Given the description of an element on the screen output the (x, y) to click on. 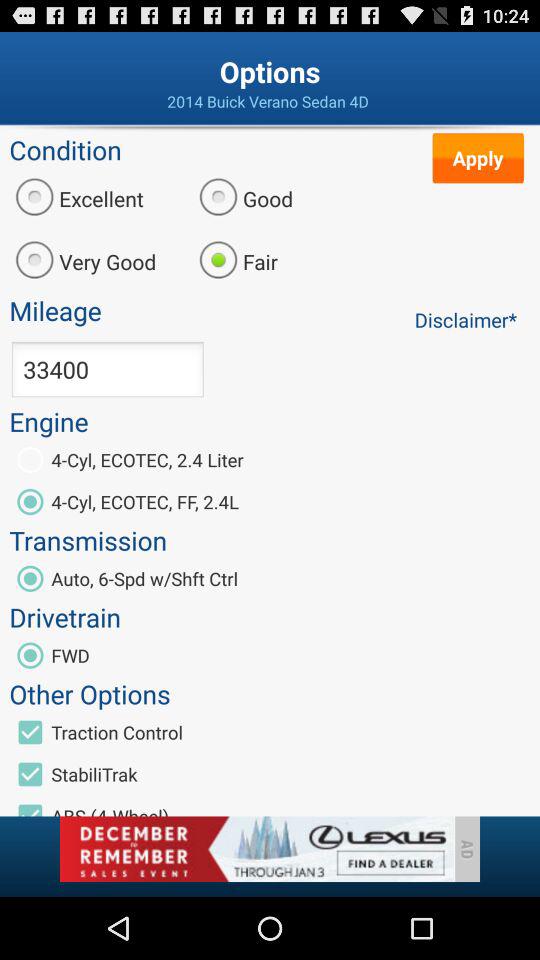
advertisement area (256, 849)
